Given the description of an element on the screen output the (x, y) to click on. 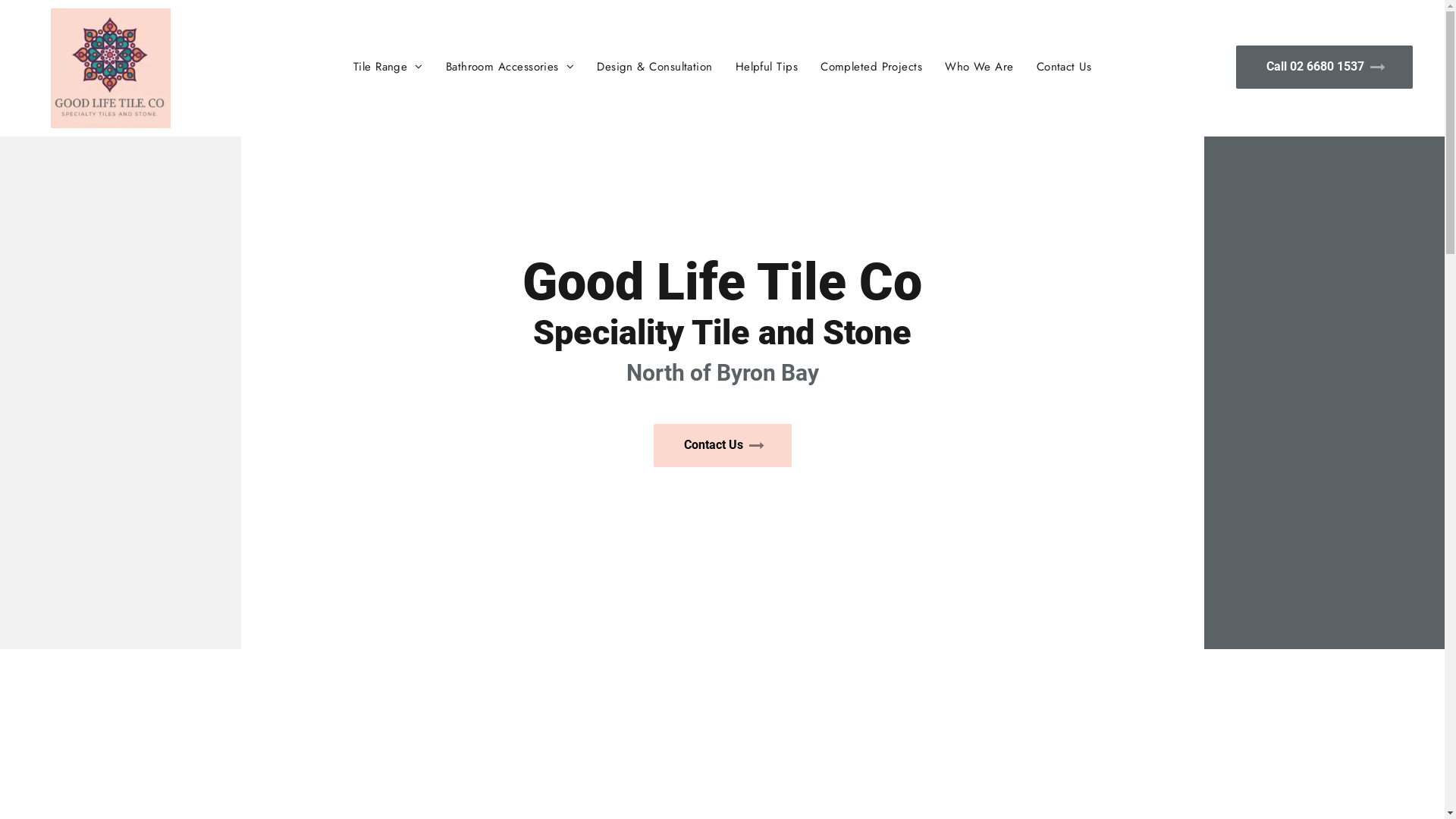
Completed Projects Element type: text (871, 66)
Call 02 6680 1537 Element type: text (1324, 66)
Bathroom Accessories Element type: text (509, 66)
Tile Range Element type: text (388, 66)
Contact Us Element type: text (722, 445)
Helpful Tips Element type: text (766, 66)
Contact Us Element type: text (1064, 66)
Design & Consultation Element type: text (654, 66)
Who We Are Element type: text (979, 66)
